Given the description of an element on the screen output the (x, y) to click on. 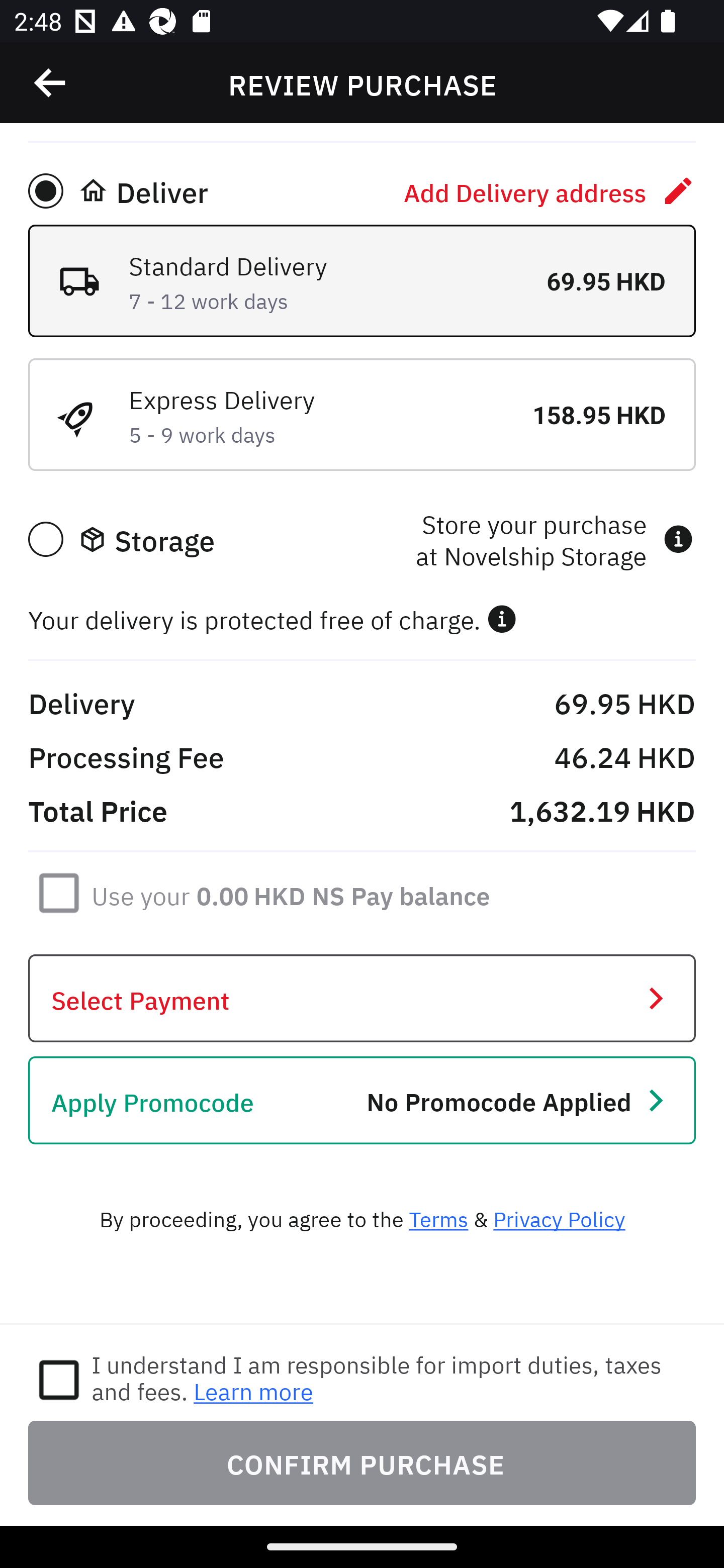
 (50, 83)
󰚡 Deliver Add Delivery address 󰏫 (361, 190)
Add Delivery address 󰏫 (549, 190)
󱊝 Standard Delivery 7 - 12 work days 69.95 HKD (361, 280)
󱎯 Express Delivery 5 - 9 work days 158.95 HKD (361, 414)
Store your purchase
at Novelship Storage  (554, 539)
 (501, 619)
Use your 0.00 HKD NS Pay balance (290, 892)
Select Payment  (361, 998)
Apply Promocode No Promocode Applied  (361, 1100)
 CONFIRM PURCHASE (361, 1462)
